Given the description of an element on the screen output the (x, y) to click on. 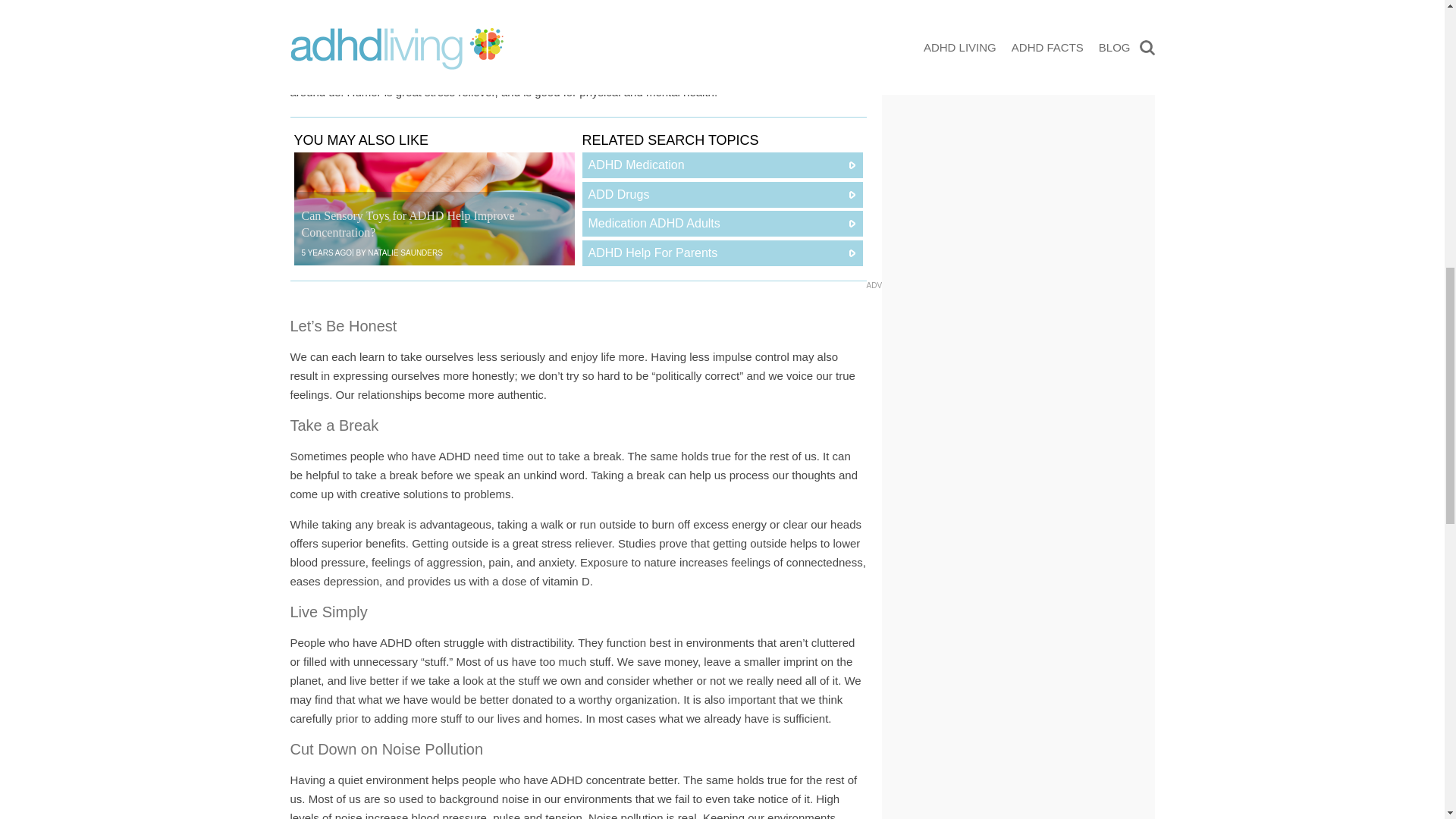
NATALIE SAUNDERS (405, 253)
ADHD Help For Parents (722, 253)
ADHD Medication (722, 165)
Can Sensory Toys for ADHD Help Improve Concentration? (408, 224)
Medication ADHD Adults (722, 223)
ADD Drugs (722, 194)
Can Sensory Toys for ADHD Help Improve Concentration? (434, 208)
